Given the description of an element on the screen output the (x, y) to click on. 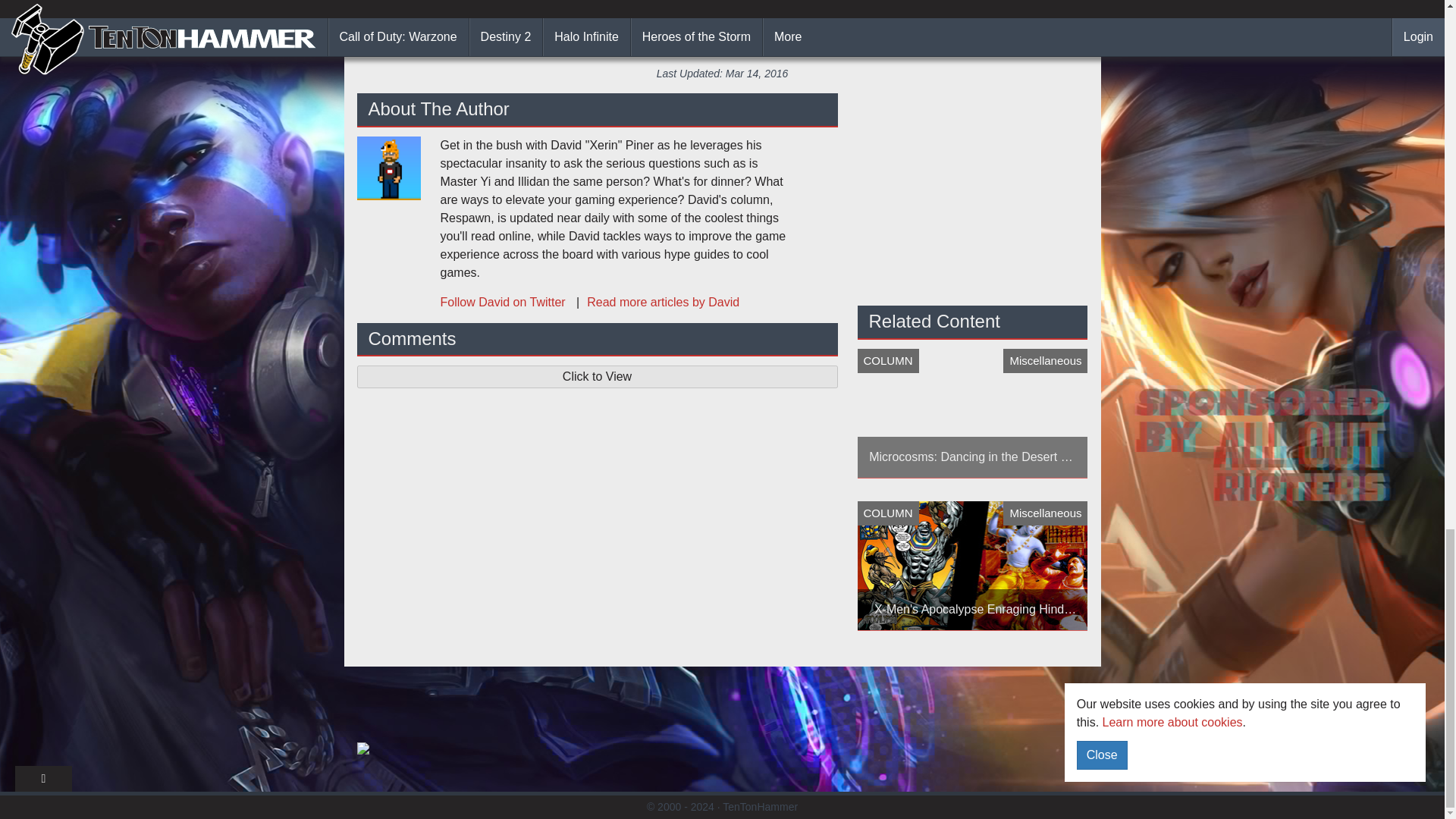
Read more articles by David (654, 301)
Share on Twitter (908, 32)
Click to View (596, 376)
3rd party ad content (721, 723)
Follow David on Twitter (504, 301)
Share on Reddit (793, 32)
Share on Facebook (545, 32)
X-Men's Apocalypse Enraging Hindu Believers? (972, 565)
Miscellaneous (758, 2)
